Given the description of an element on the screen output the (x, y) to click on. 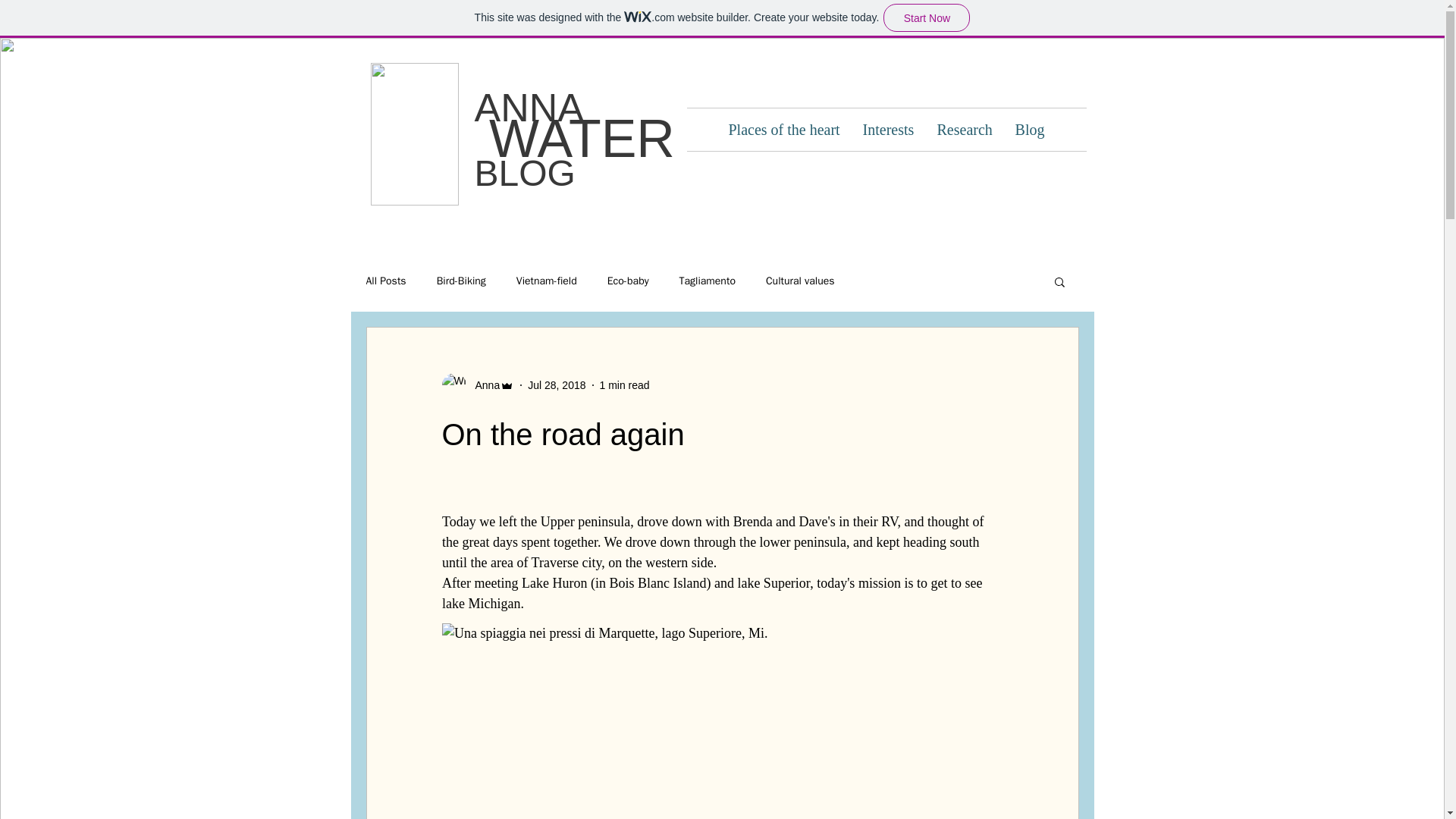
Vietnam-field (546, 281)
ANNA (528, 107)
BLOG (524, 173)
Research (963, 129)
Tagliamento (707, 281)
Places of the heart (784, 129)
Cultural values (799, 281)
Blog (1030, 129)
All Posts (385, 281)
Interests (887, 129)
Anna (482, 385)
Eco-baby (628, 281)
Bird-Biking (461, 281)
1 min read (623, 385)
Jul 28, 2018 (556, 385)
